Given the description of an element on the screen output the (x, y) to click on. 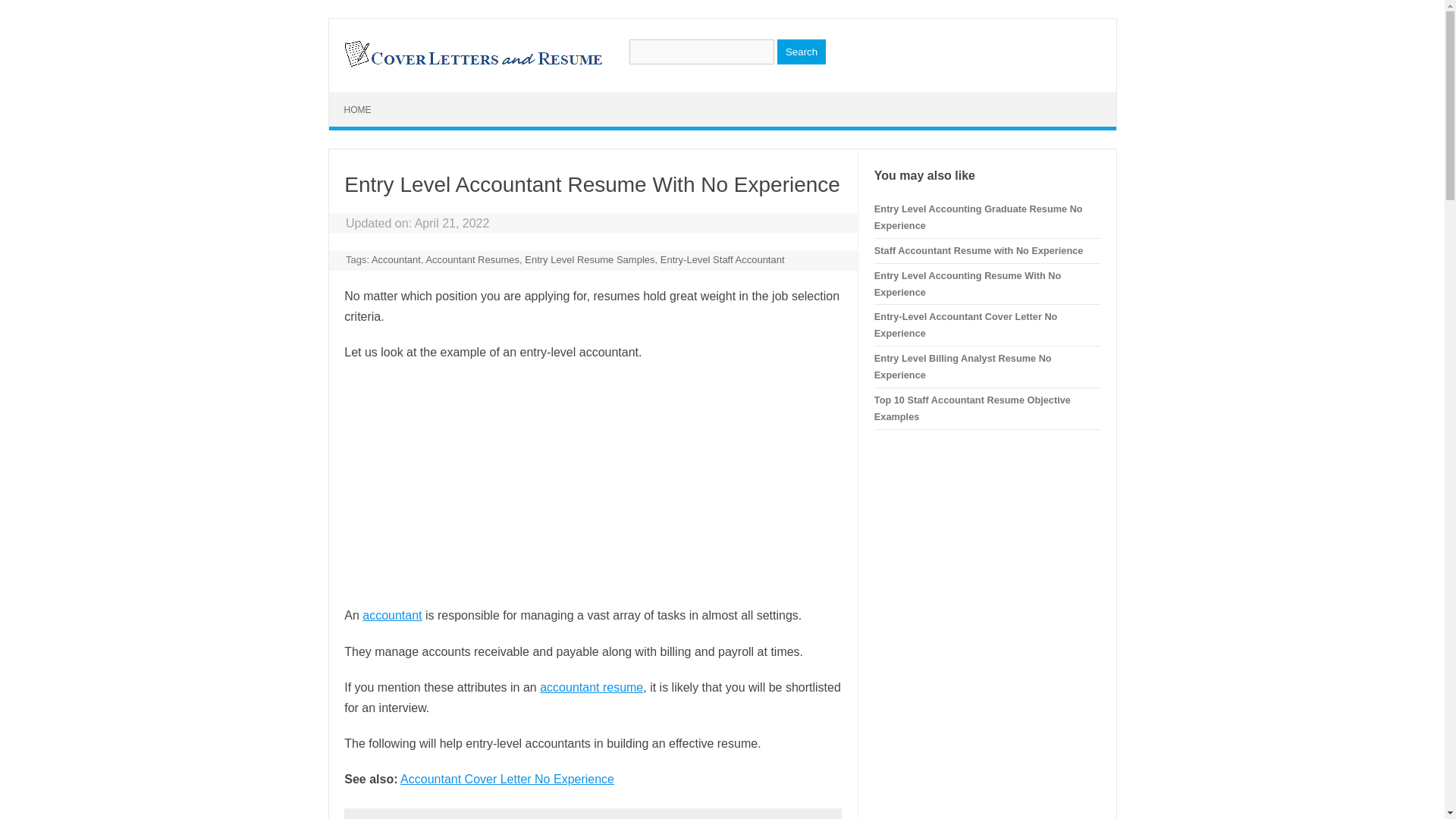
Entry-Level Accountant Cover Letter No Experience (966, 325)
Advertisement (592, 483)
Staff Accountant Resume with No Experience (979, 250)
accountant (392, 615)
Entry Level Billing Analyst Resume No Experience (963, 366)
Entry Level Accounting Resume With No Experience (968, 284)
Search (801, 51)
Search (801, 51)
Accountant Cover Letter No Experience (507, 779)
Entry Level Resume Samples (588, 259)
Cover Letters and Resume Samples (471, 65)
Accountant Resumes (472, 259)
Accountant (395, 259)
